Given the description of an element on the screen output the (x, y) to click on. 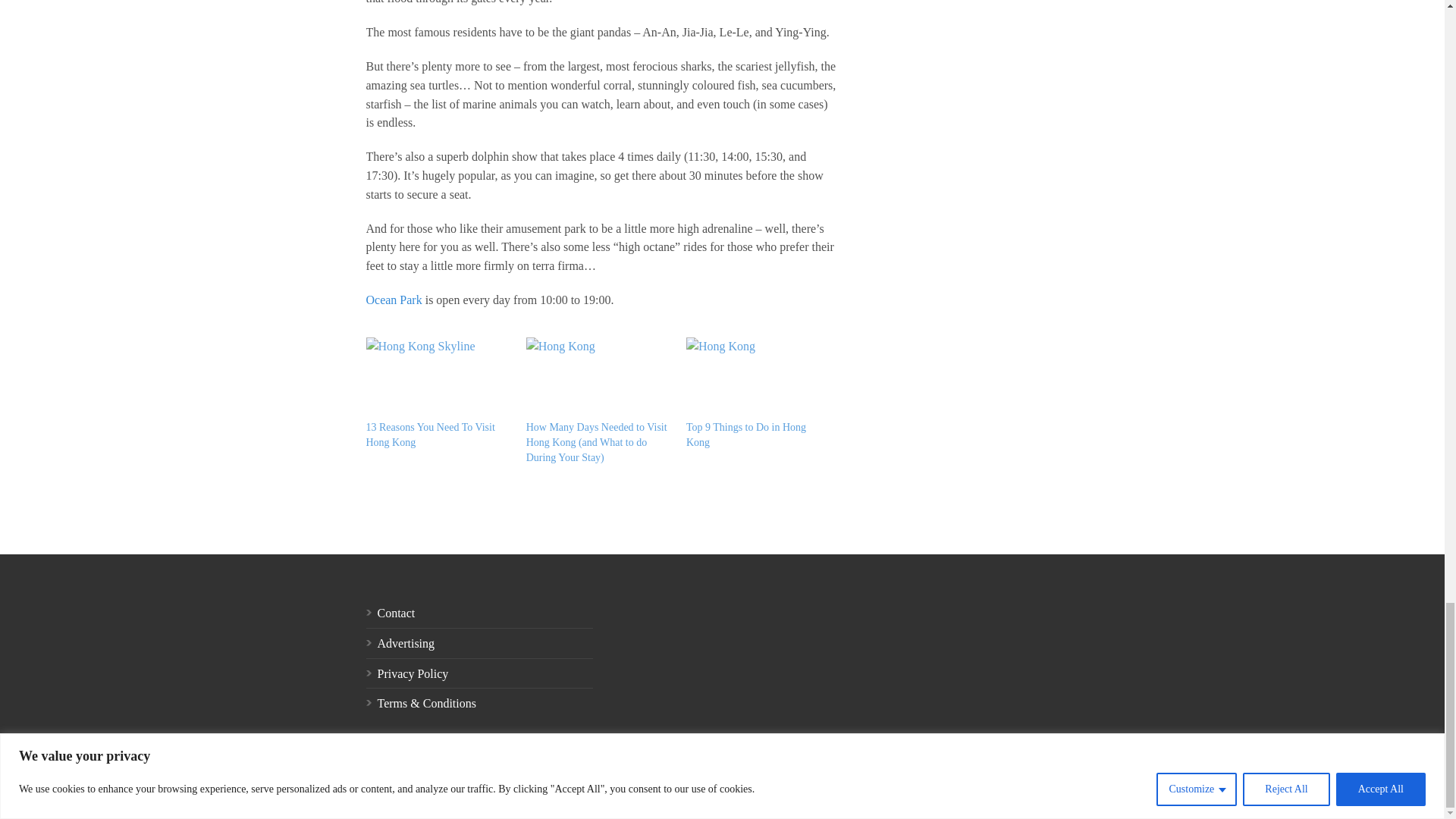
Top 9 Things to Do in Hong Kong (758, 378)
Top 9 Things to Do in Hong Kong (745, 434)
13 Reasons You Need To Visit Hong Kong (430, 434)
13 Reasons You Need To Visit Hong Kong (438, 378)
